Given the description of an element on the screen output the (x, y) to click on. 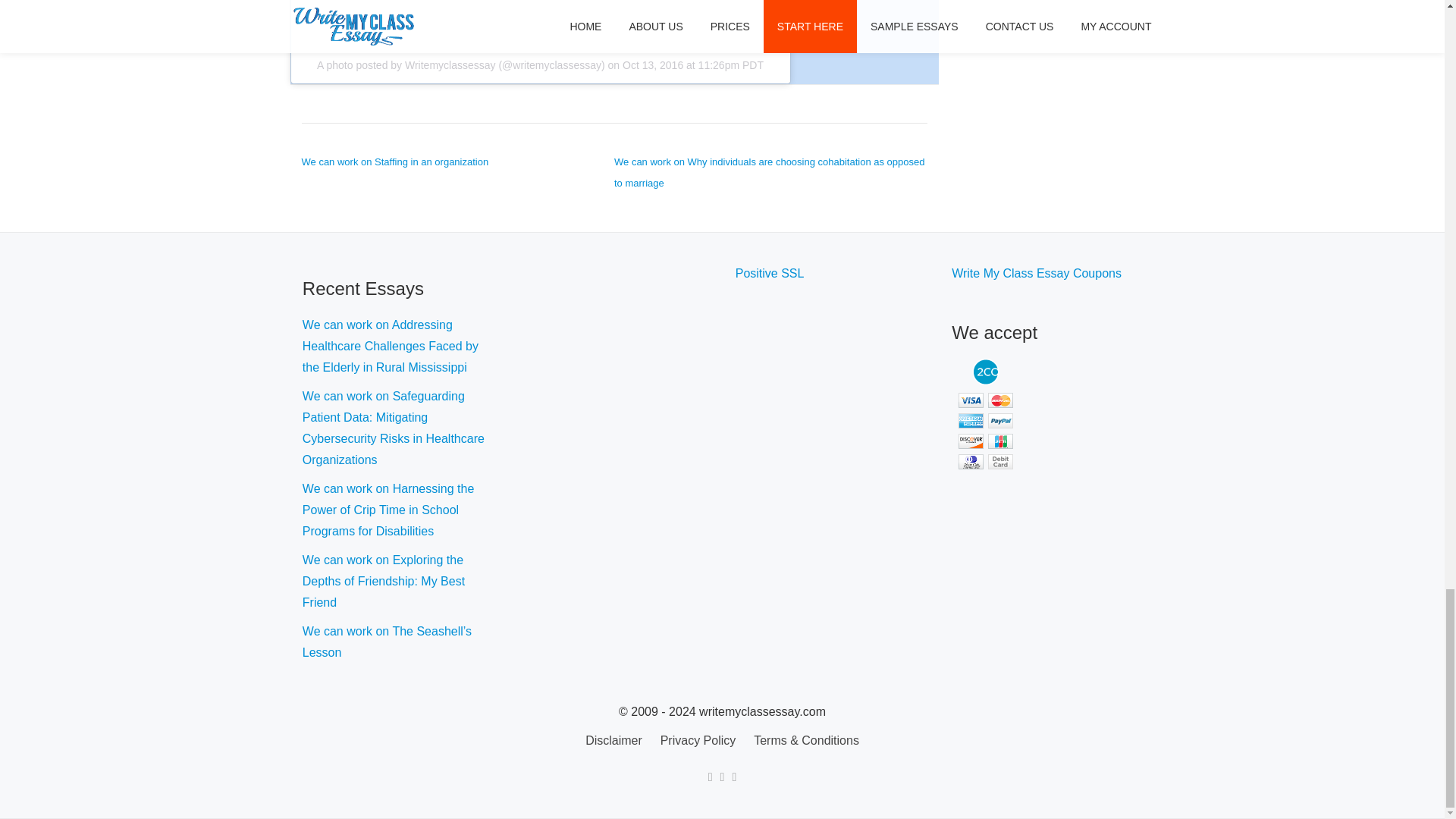
Positive SSL (770, 273)
Disclaimer (613, 739)
Privacy Policy (698, 739)
Write My Class Essay Coupons (1036, 273)
We can work on Staffing in an organization (395, 161)
